Given the description of an element on the screen output the (x, y) to click on. 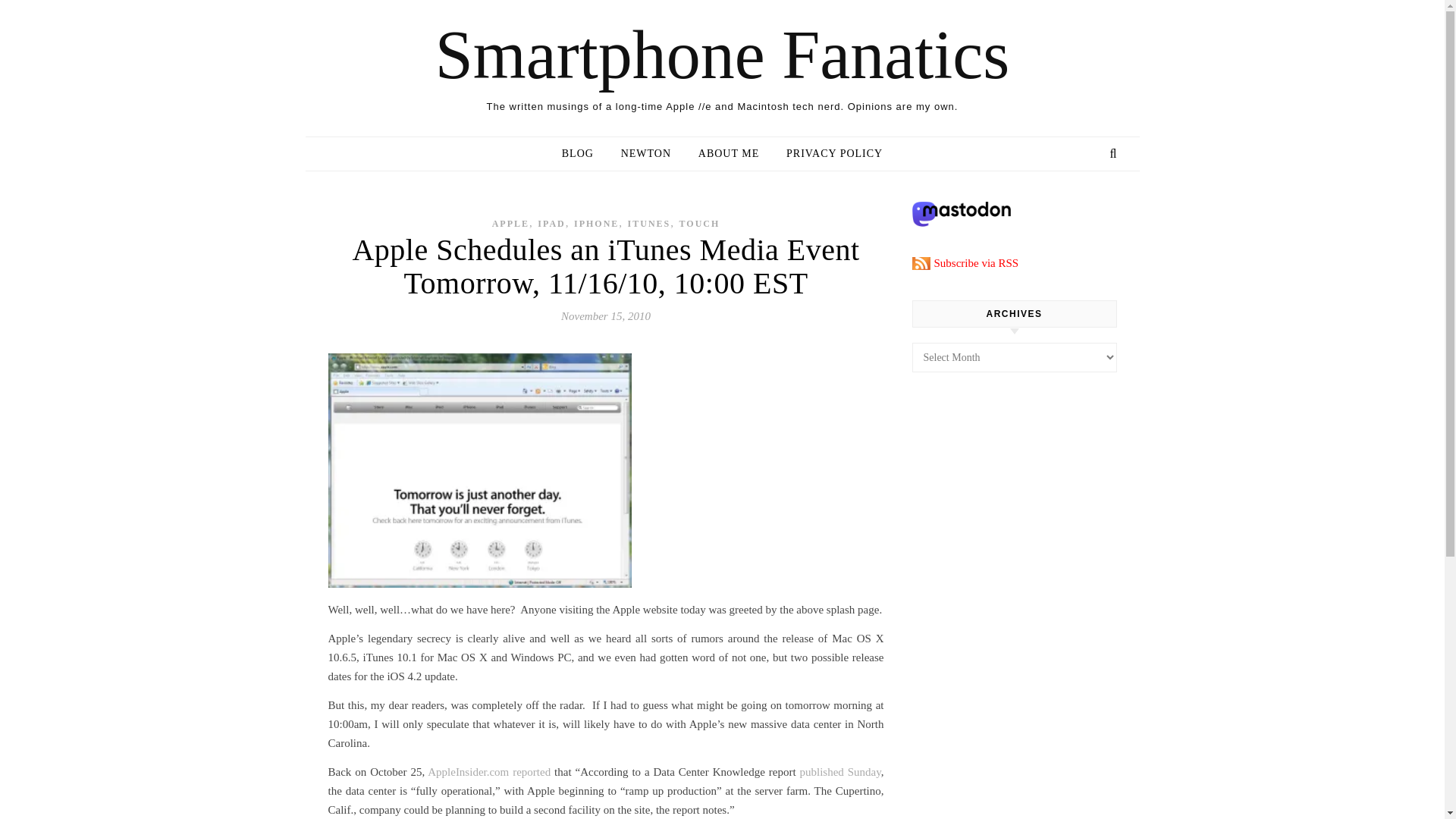
IPHONE (595, 223)
ABOUT ME (728, 153)
ITUNES (649, 223)
NEWTON (645, 153)
Smartphone Fanatics (722, 55)
PRIVACY POLICY (828, 153)
BLOG (583, 153)
Subscribe via RSS (964, 263)
published Sunday (839, 771)
APPLE (510, 223)
